Given the description of an element on the screen output the (x, y) to click on. 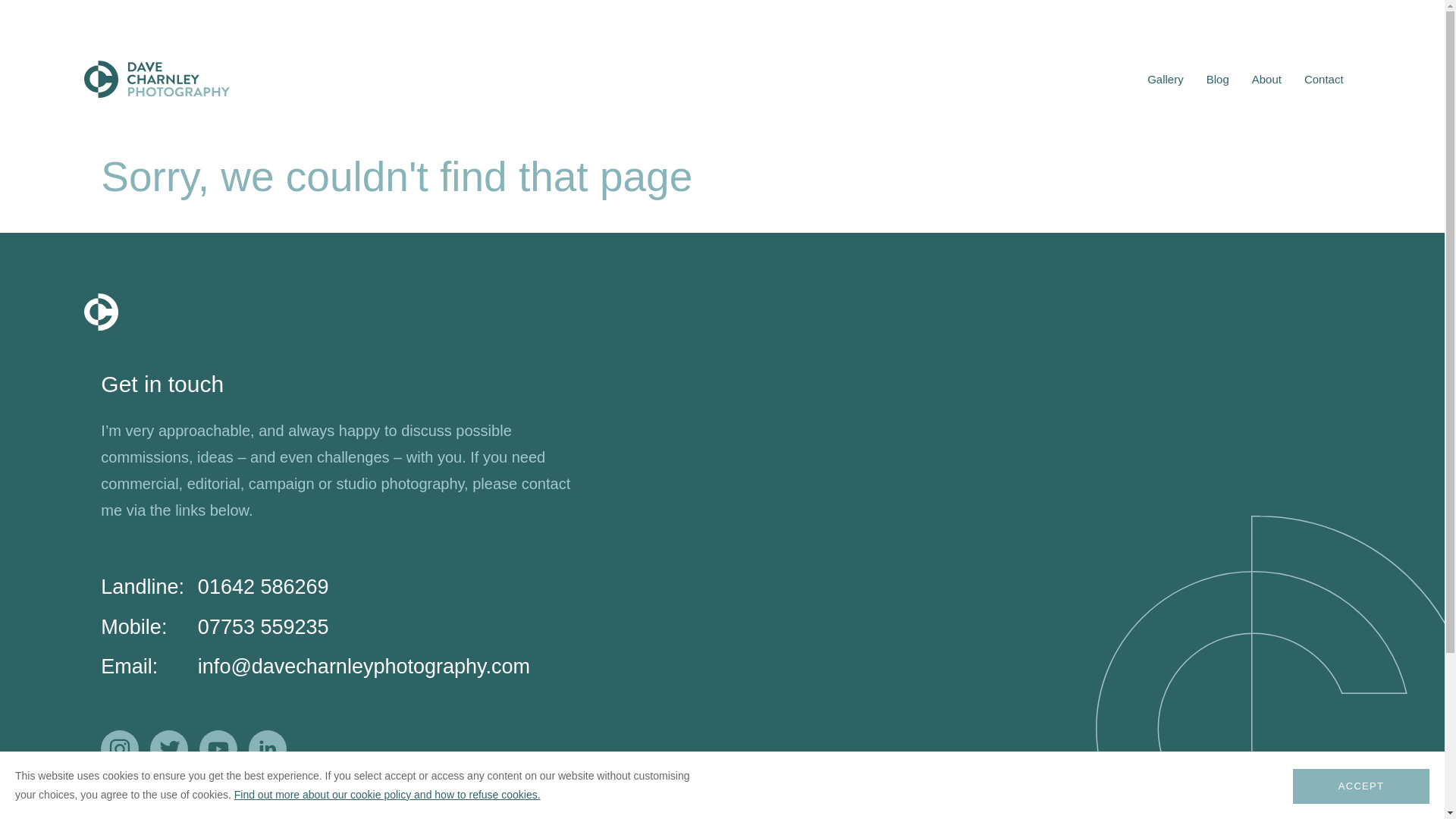
07753 559235 (263, 626)
Blog (1217, 79)
ACCEPT (1360, 786)
Contact (1323, 79)
Gallery (1165, 79)
01642 586269 (263, 586)
About (1266, 79)
